Given the description of an element on the screen output the (x, y) to click on. 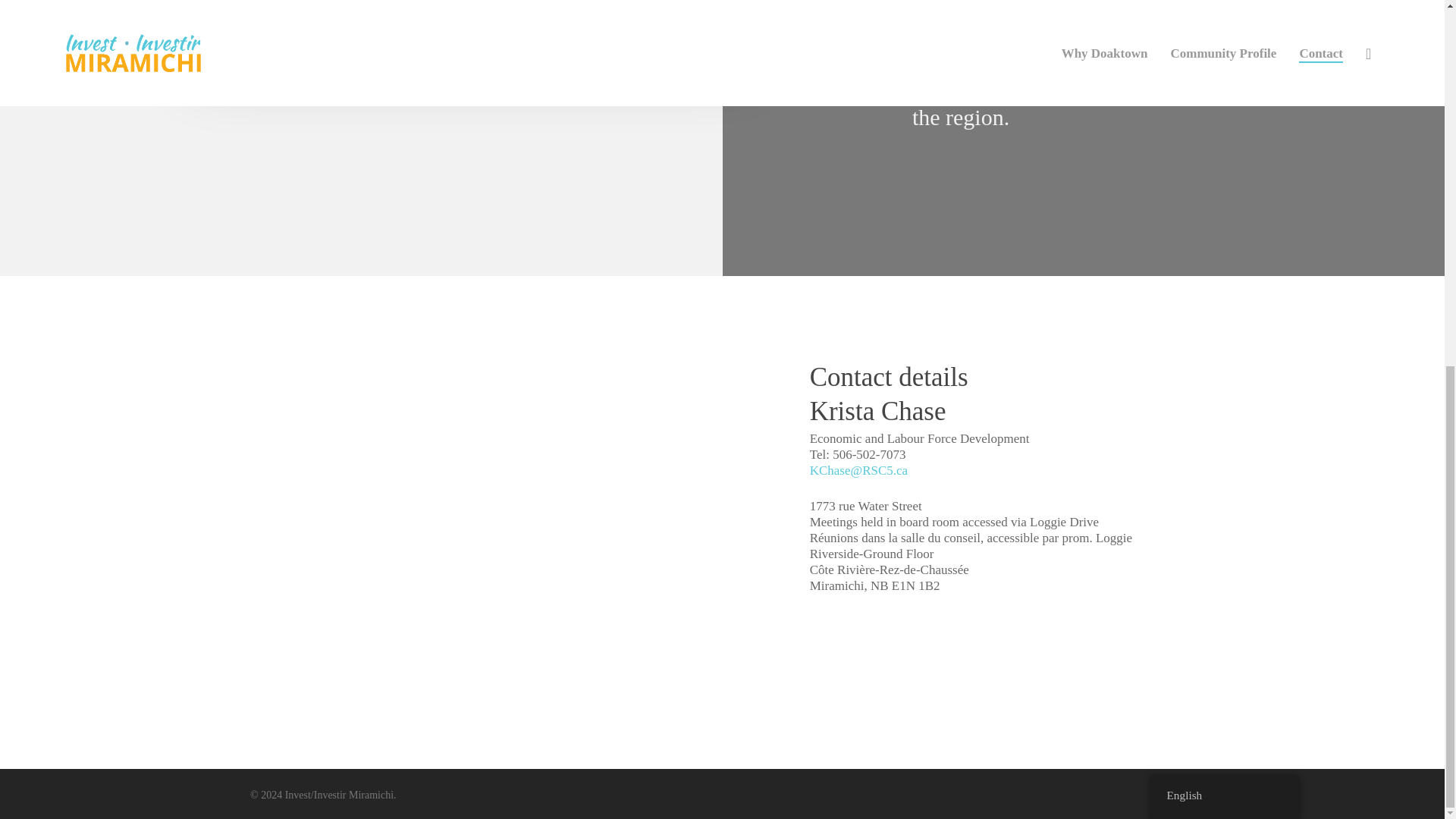
English (1224, 137)
